Given the description of an element on the screen output the (x, y) to click on. 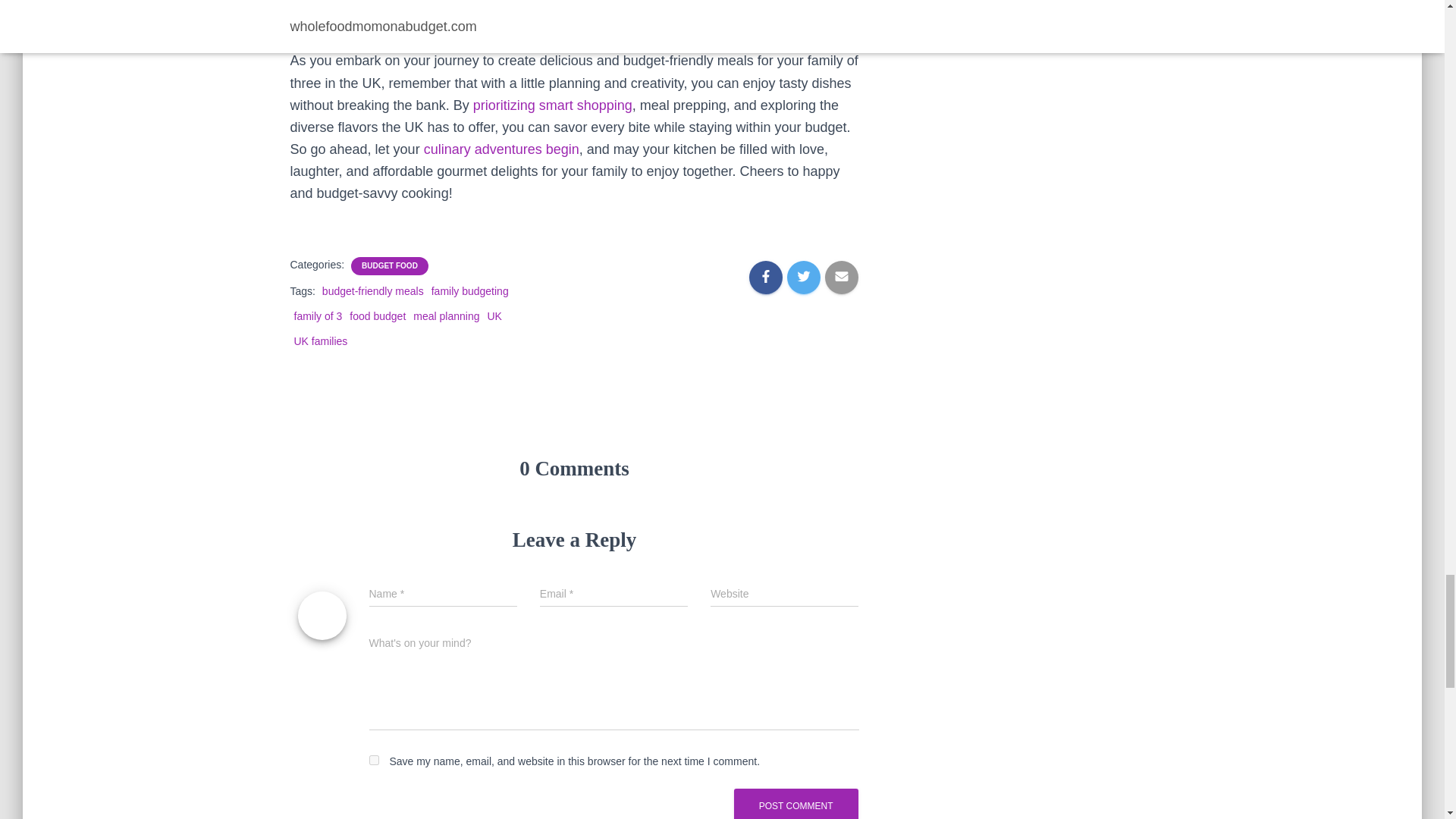
food budget  (552, 105)
budget food for a month (501, 149)
UK (493, 316)
meal planning (446, 316)
culinary adventures begin (501, 149)
Post Comment (796, 803)
BUDGET FOOD (389, 266)
yes (373, 759)
family of 3 (318, 316)
prioritizing smart shopping (552, 105)
